Given the description of an element on the screen output the (x, y) to click on. 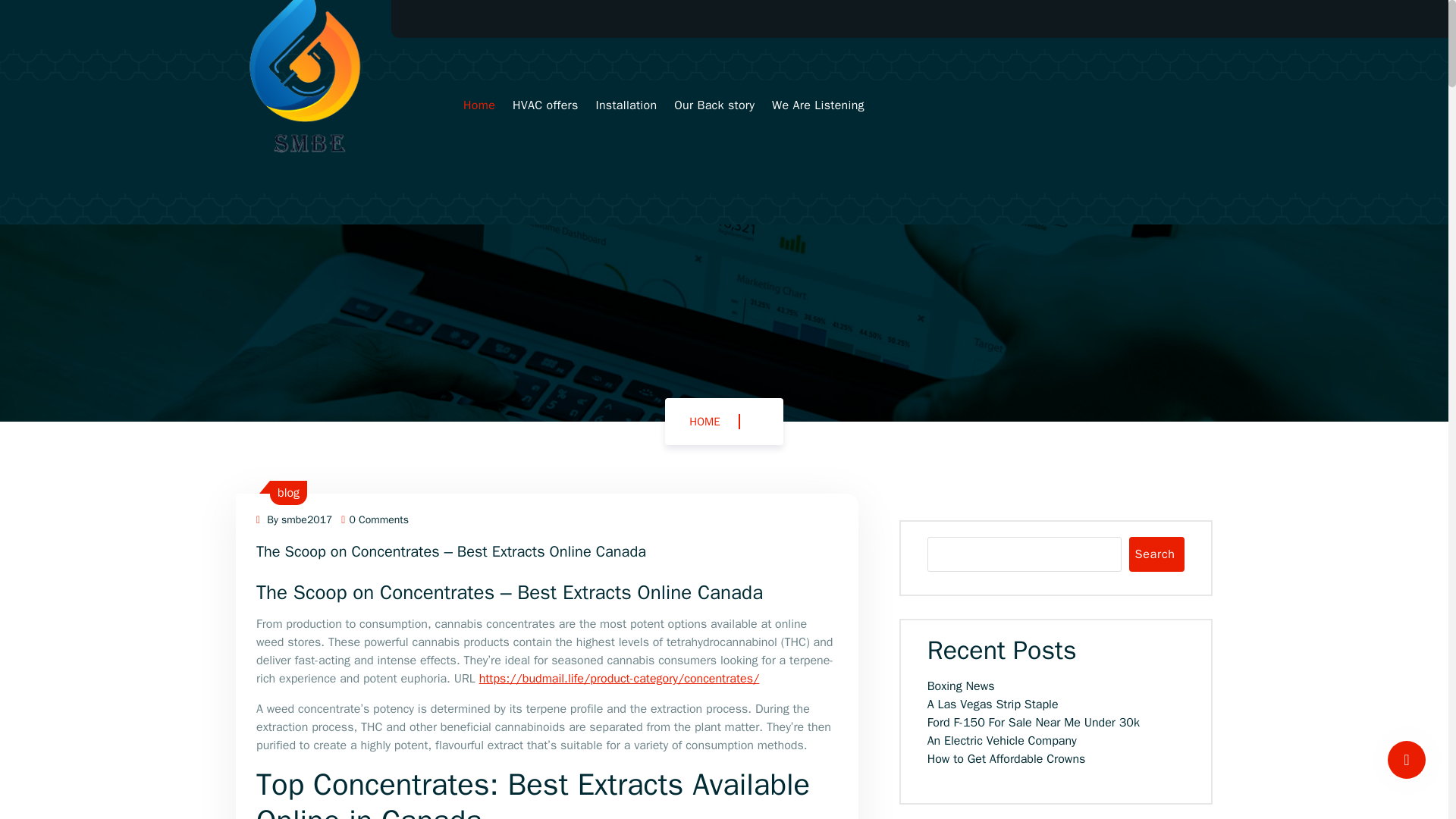
We Are Listening (817, 105)
Our Back story (714, 105)
Home (479, 105)
0 Comments (374, 519)
Our Back story (714, 105)
HOME (703, 421)
Installation (625, 105)
Home (479, 105)
blog (288, 492)
Installation (625, 105)
By smbe2017 (293, 519)
HVAC offers (545, 105)
HVAC offers (545, 105)
We Are Listening (817, 105)
